Given the description of an element on the screen output the (x, y) to click on. 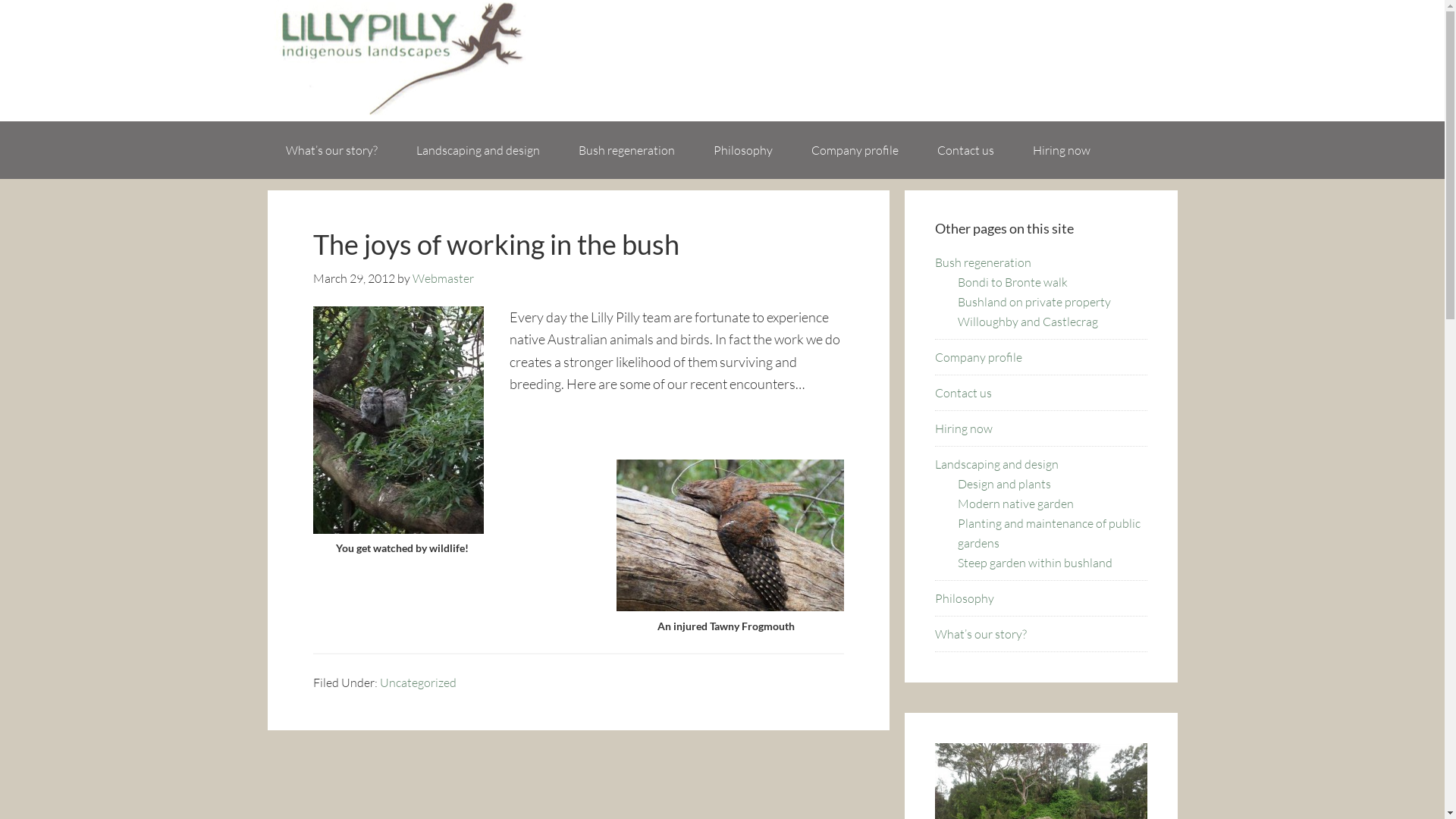
Design and plants Element type: text (1003, 483)
Company profile Element type: text (977, 356)
Planting and maintenance of public gardens Element type: text (1048, 532)
Steep garden within bushland Element type: text (1034, 562)
Contact us Element type: text (962, 392)
Injured Tawny Frogmouth Element type: hover (729, 535)
Tawny Frogmouths Element type: hover (397, 419)
The joys of working in the bush Element type: text (495, 243)
Landscaping and design Element type: text (995, 463)
Philosophy Element type: text (963, 597)
Contact us Element type: text (965, 149)
Modern native garden Element type: text (1015, 503)
Bush regeneration Element type: text (982, 261)
Bondi to Bronte walk Element type: text (1011, 281)
Webmaster Element type: text (442, 277)
Bushland on private property Element type: text (1033, 301)
Landscaping and design Element type: text (477, 149)
Hiring now Element type: text (962, 428)
Bush regeneration Element type: text (625, 149)
Uncategorized Element type: text (417, 682)
Willoughby and Castlecrag Element type: text (1027, 321)
Lilly Pilly Indigenous Landscapes Element type: text (721, 60)
Company profile Element type: text (854, 149)
Hiring now Element type: text (1061, 149)
Philosophy Element type: text (742, 149)
